Given the description of an element on the screen output the (x, y) to click on. 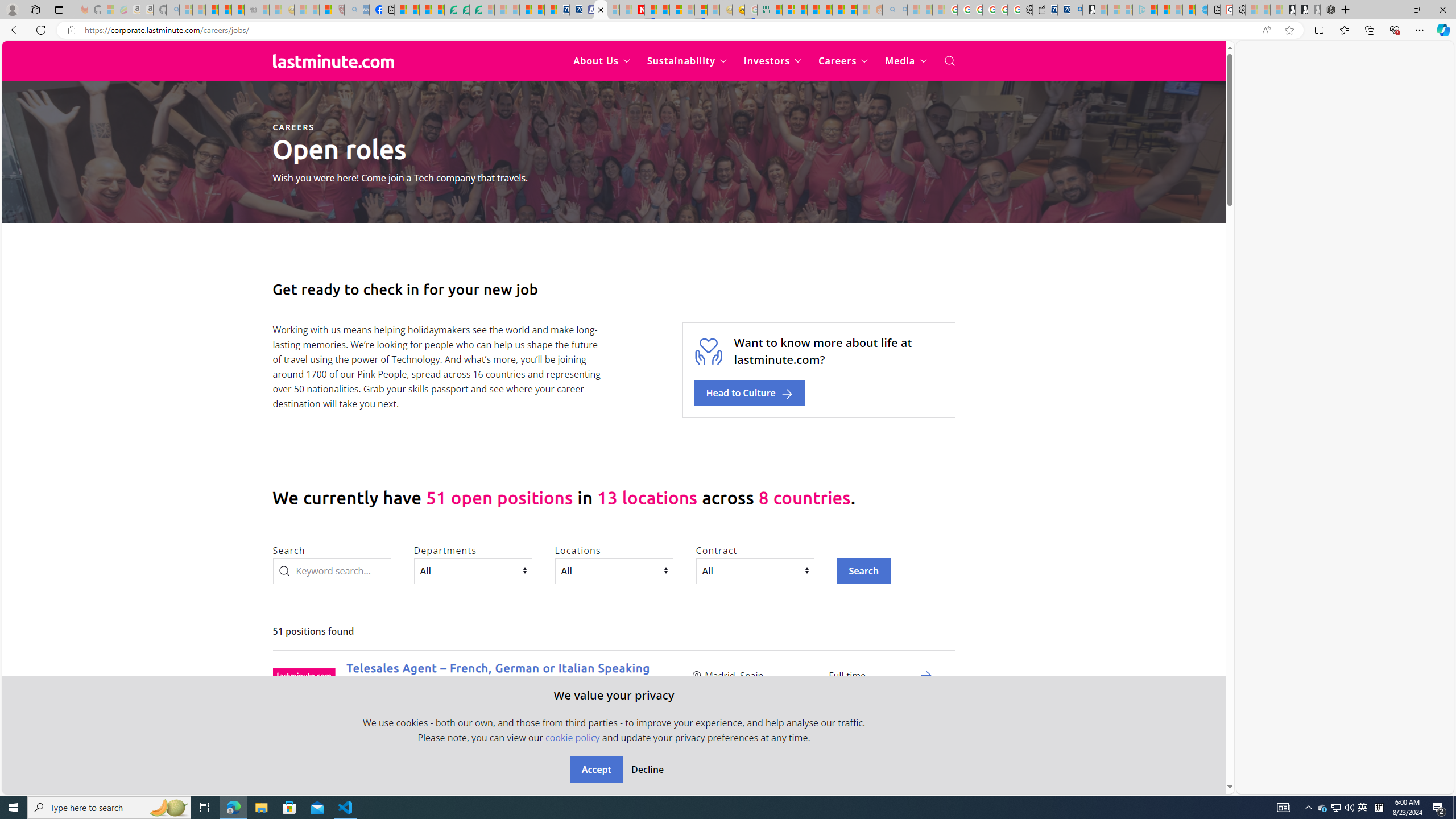
Tab actions menu (58, 9)
Back to home (333, 60)
Microsoft account | Privacy - Sleeping (1126, 9)
Restore (1416, 9)
14 Common Myths Debunked By Scientific Facts (663, 9)
Microsoft account | Privacy (788, 9)
DITOGAMES AG Imprint (763, 9)
Local - MSN (325, 9)
